Given the description of an element on the screen output the (x, y) to click on. 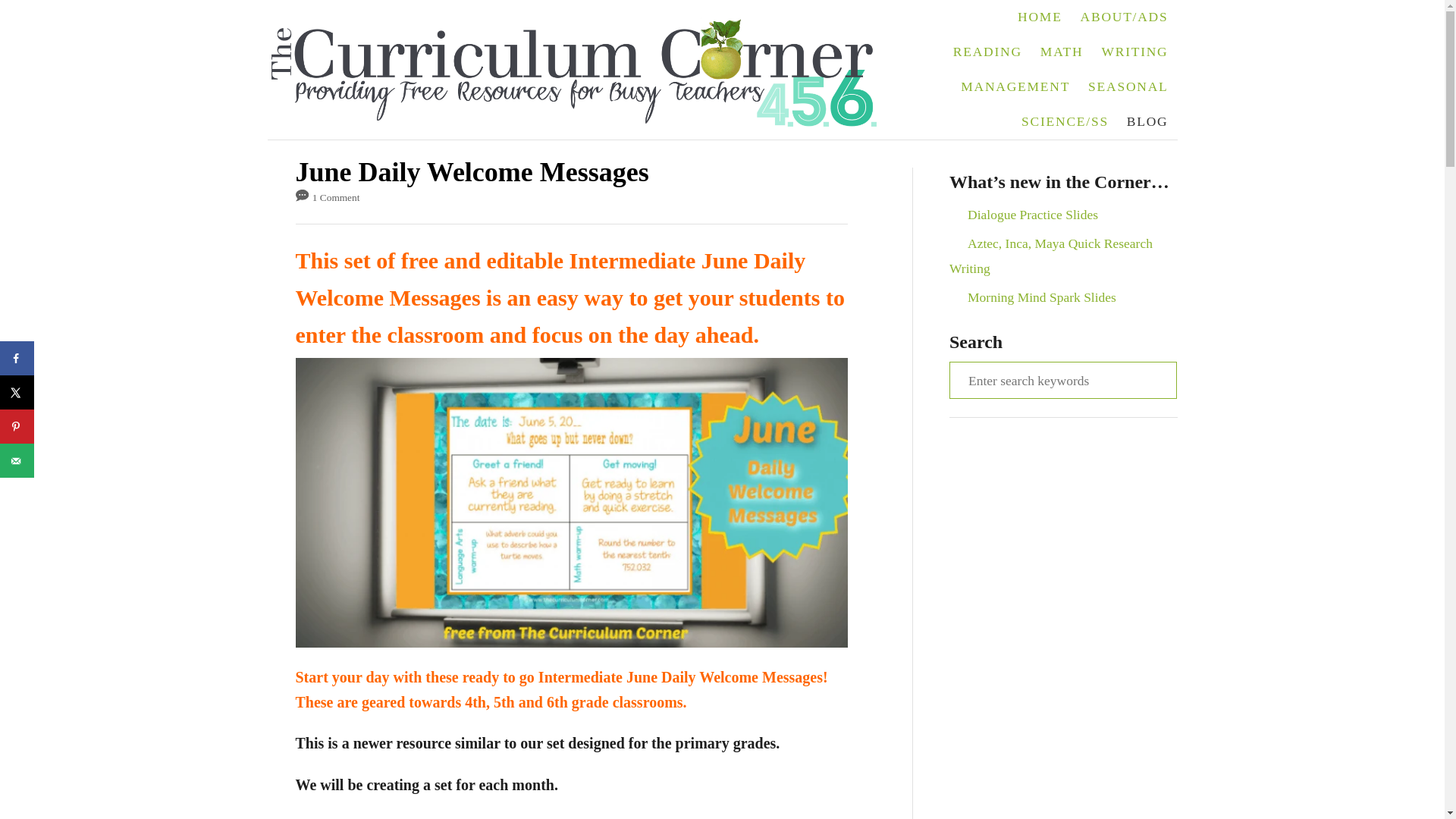
Send over email (16, 460)
The Curriculum Corner 4-5-6 (580, 69)
Share on X (16, 392)
Search for: (1062, 379)
Share on Facebook (16, 358)
SEASONAL (1127, 86)
READING (986, 52)
MATH (1061, 52)
MANAGEMENT (1015, 86)
HOME (1040, 17)
WRITING (1134, 52)
Save to Pinterest (16, 426)
